Given the description of an element on the screen output the (x, y) to click on. 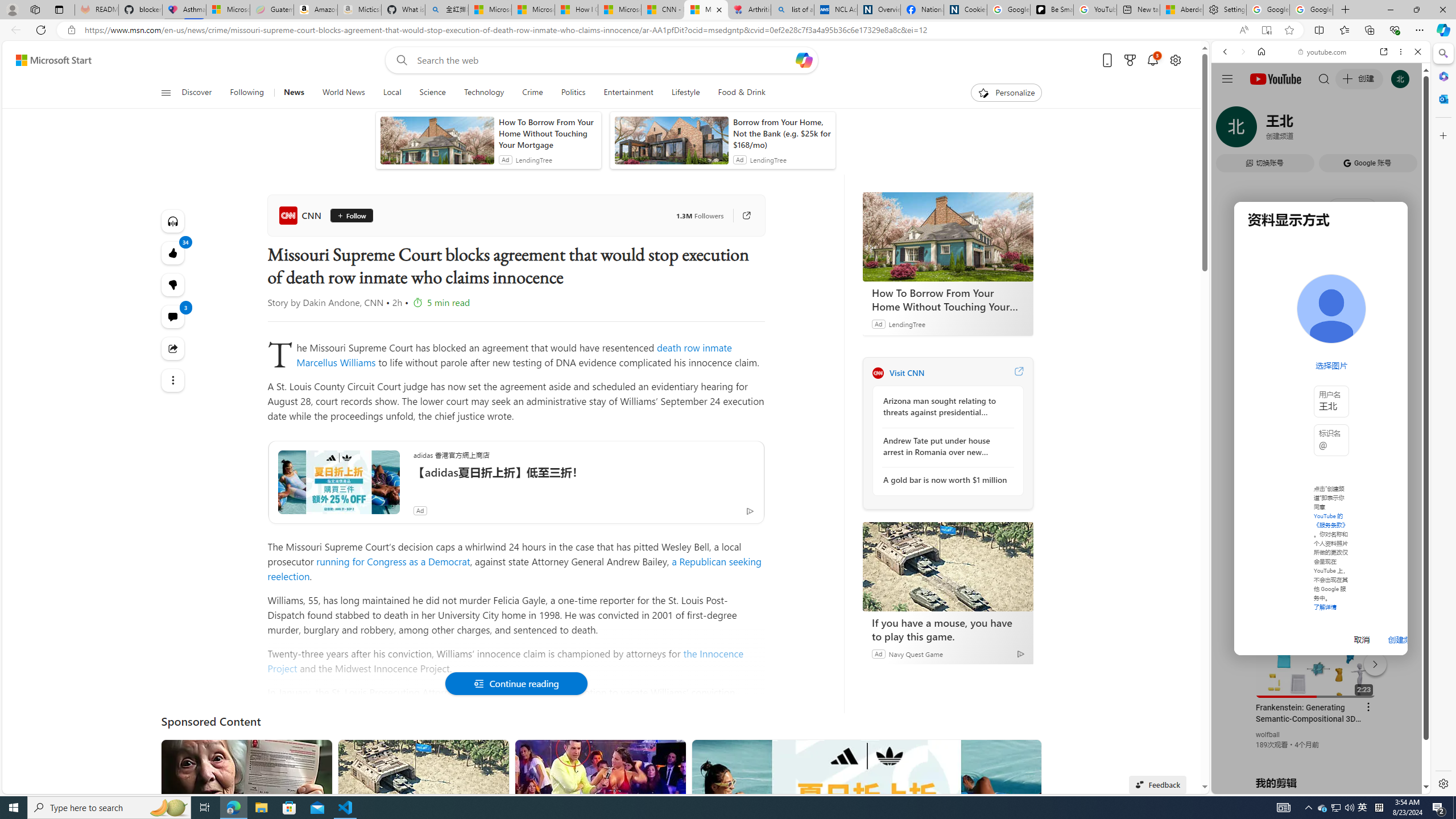
If you have a mouse, you have to play this game. (947, 628)
Search videos from youtube.com (1299, 373)
Click to scroll right (1407, 456)
Be Smart | creating Science videos | Patreon (1051, 9)
